Given the description of an element on the screen output the (x, y) to click on. 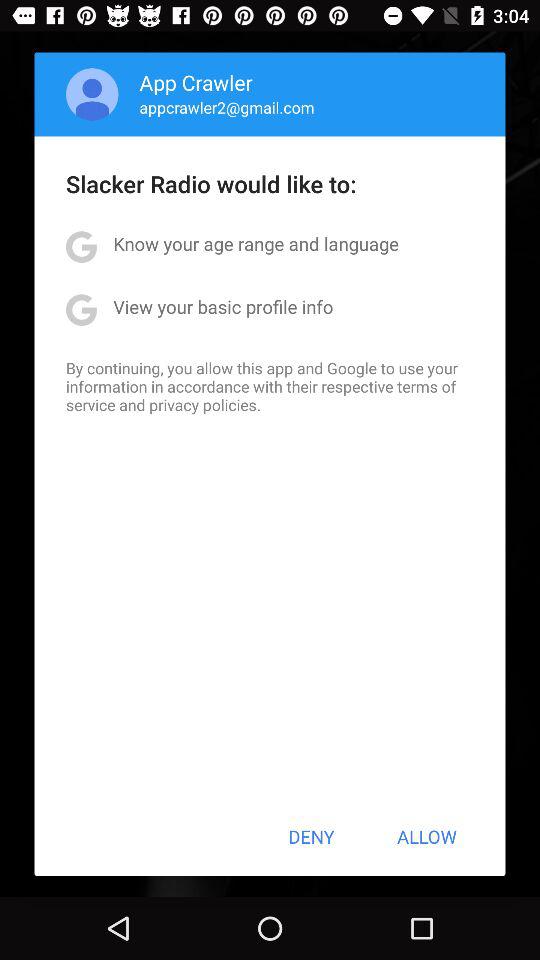
launch the app above by continuing you icon (223, 306)
